Given the description of an element on the screen output the (x, y) to click on. 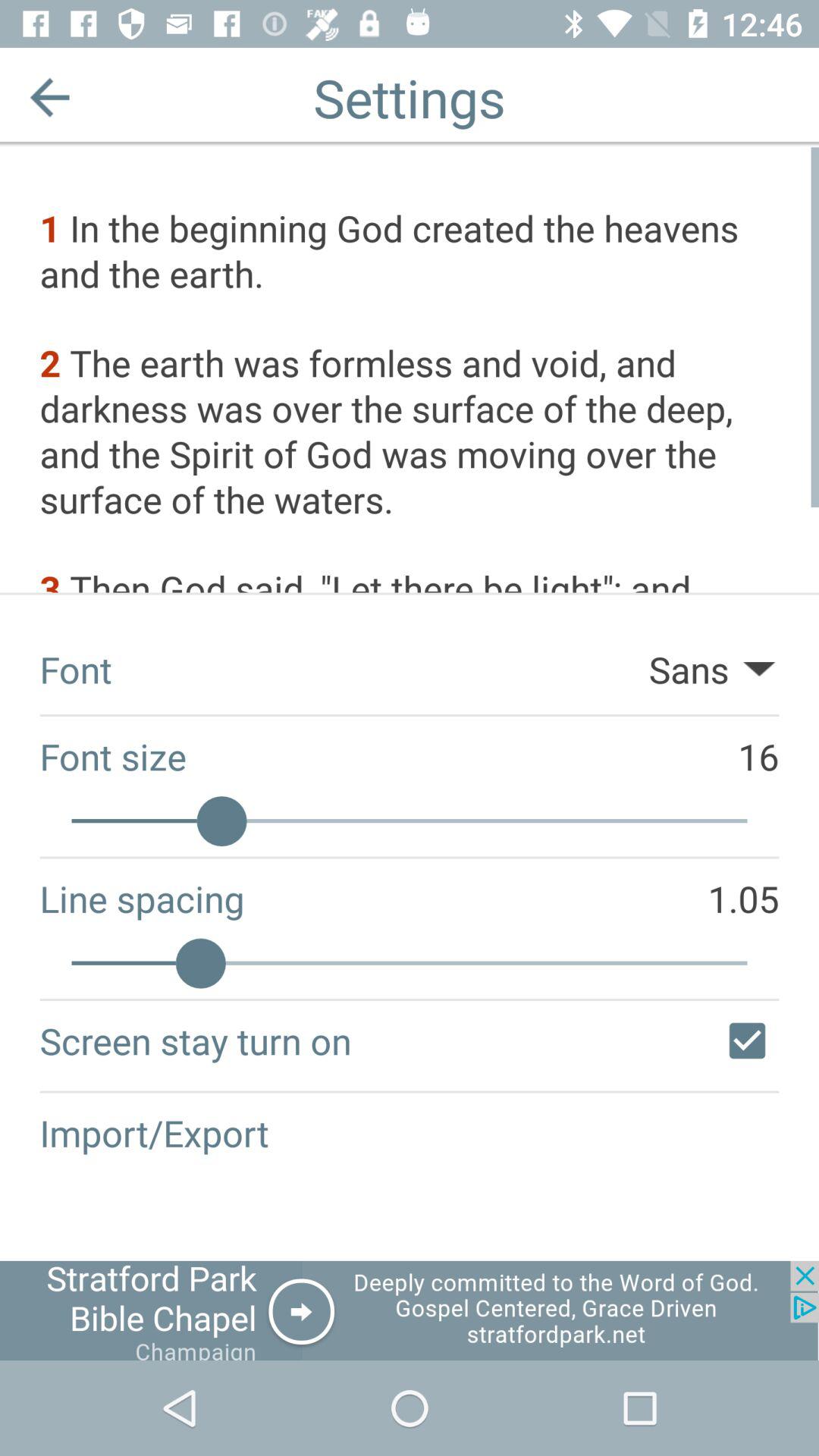
check mark (747, 1040)
